Given the description of an element on the screen output the (x, y) to click on. 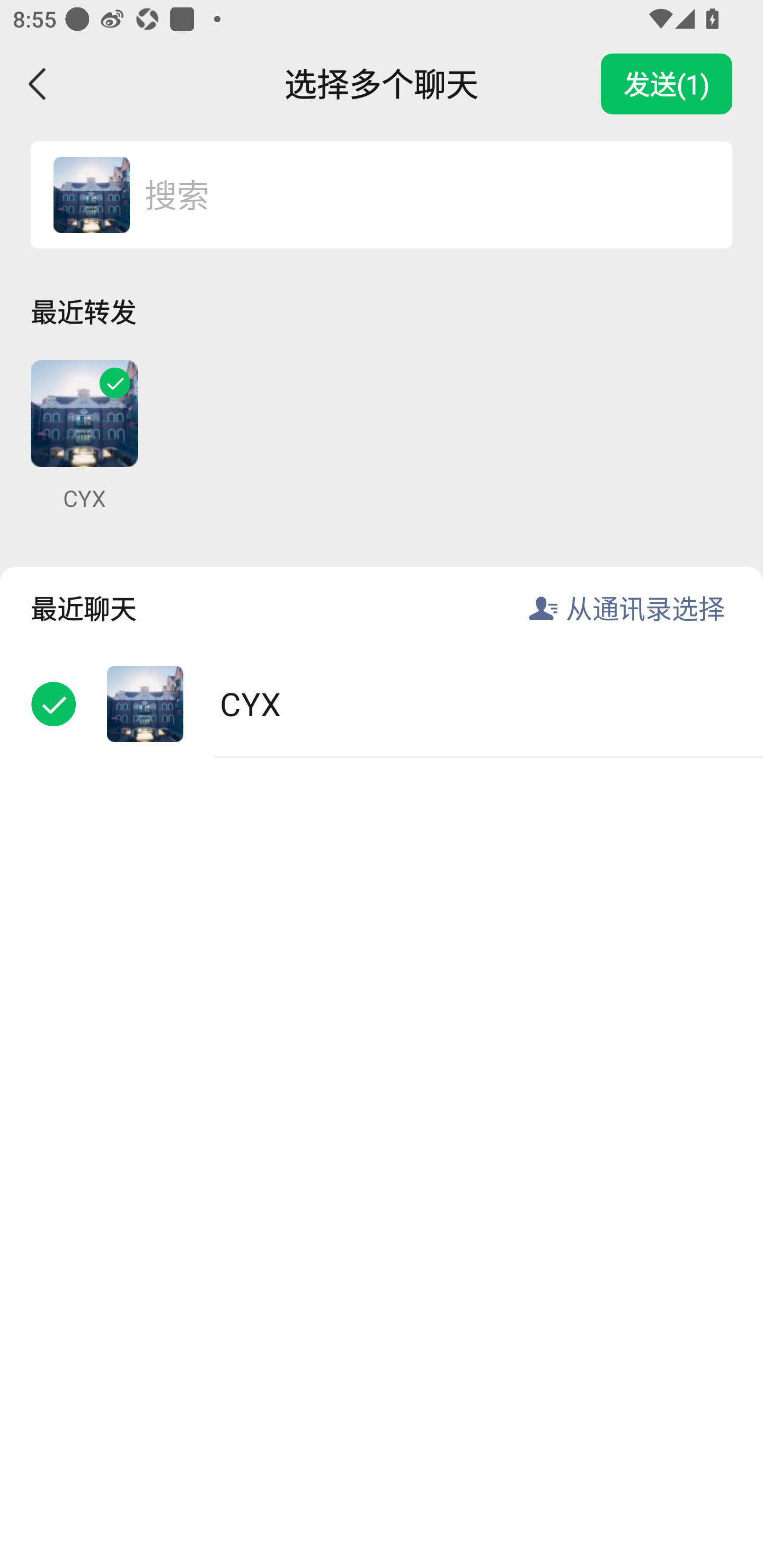
返回 (38, 83)
发送(1) (666, 83)
CYX (91, 194)
搜索 (418, 194)
CYX (84, 436)
从通讯录选择 (645, 608)
CYX (381, 703)
